Given the description of an element on the screen output the (x, y) to click on. 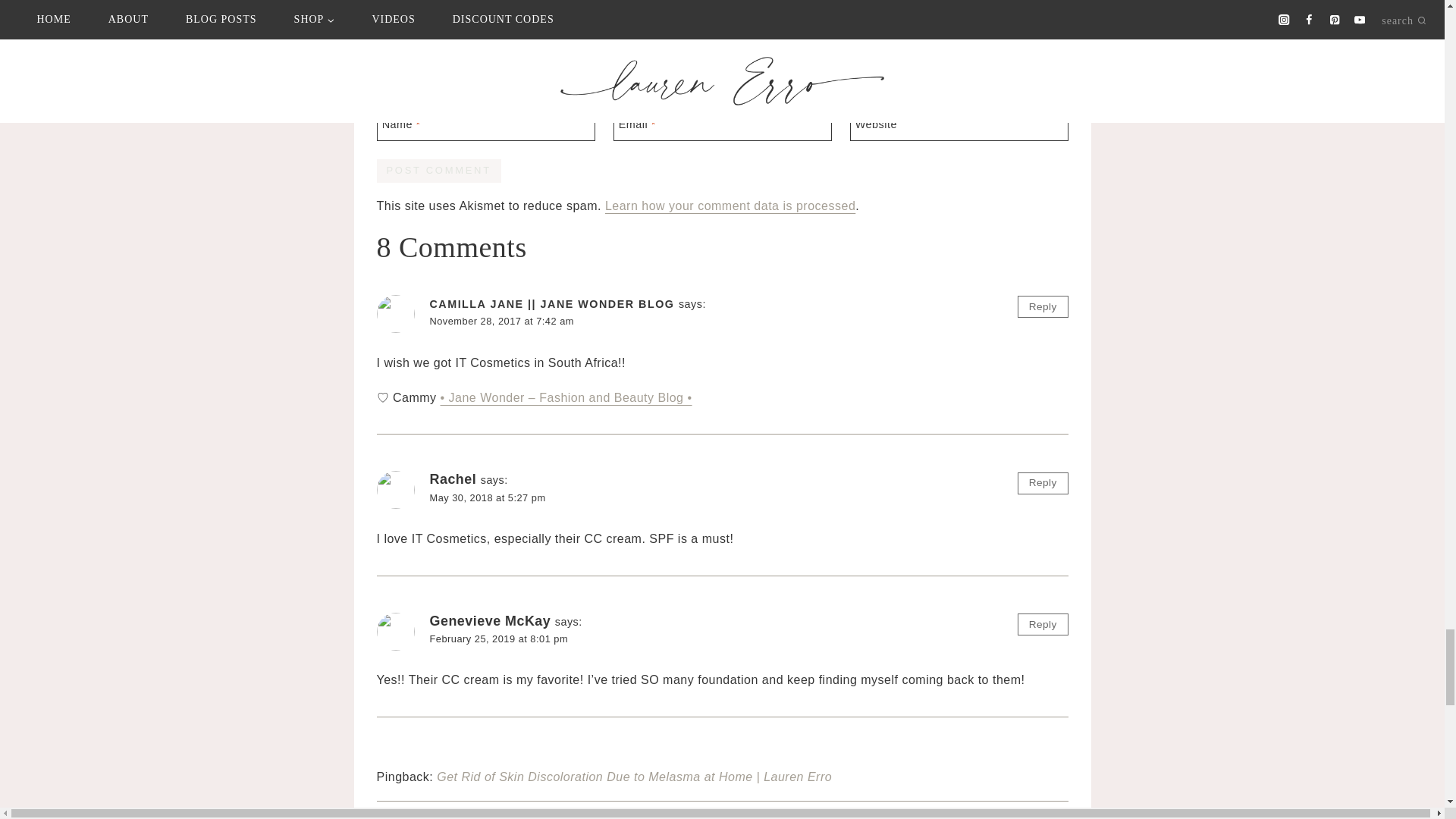
Post Comment (437, 170)
